Given the description of an element on the screen output the (x, y) to click on. 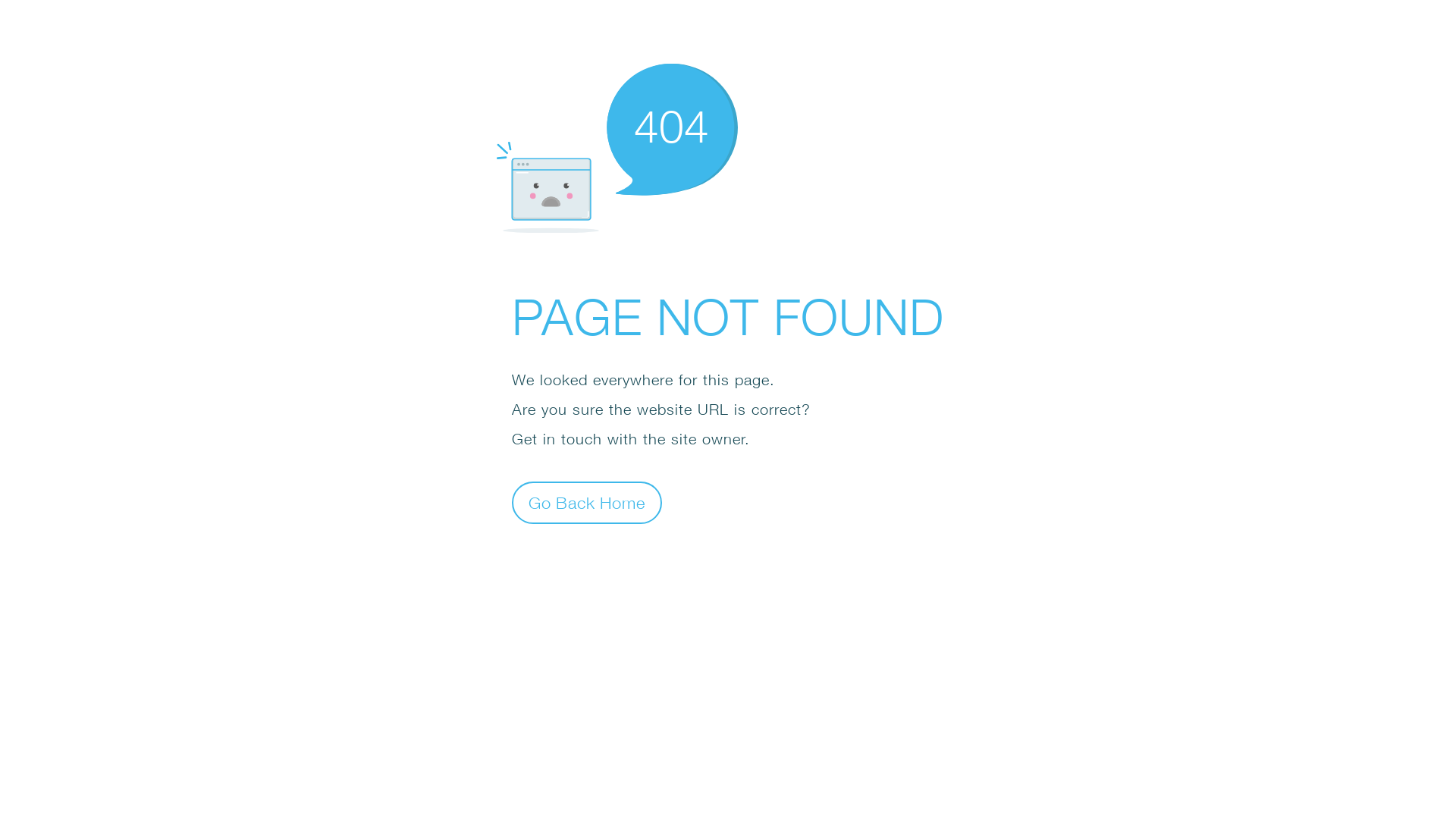
Go Back Home Element type: text (586, 502)
